Given the description of an element on the screen output the (x, y) to click on. 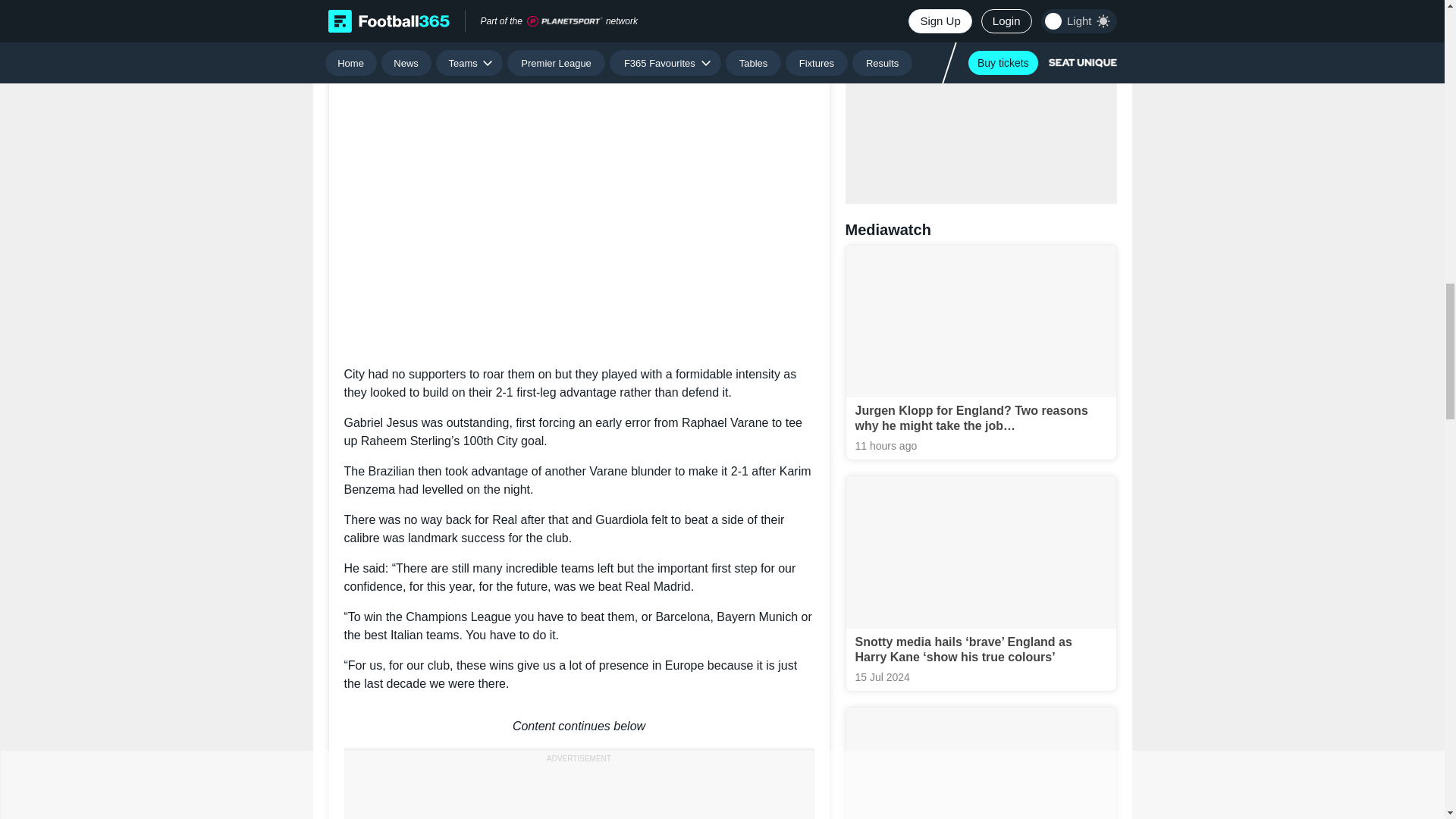
3rd party ad content (980, 89)
3rd party ad content (579, 793)
Pep: Victory more than deserved (578, 190)
Content continues below (578, 726)
